Given the description of an element on the screen output the (x, y) to click on. 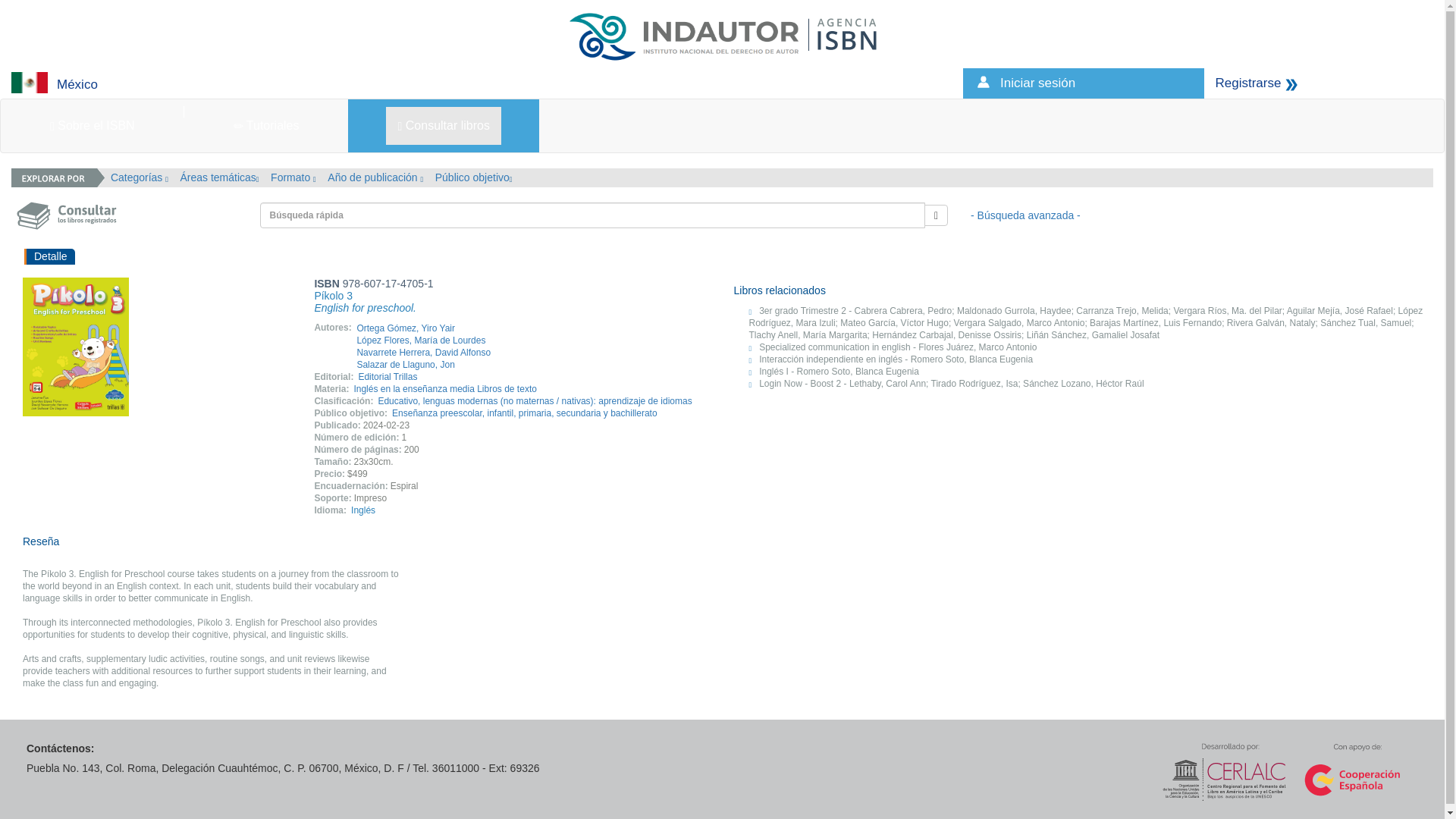
Consultar libros (442, 125)
Formato (292, 177)
Tutoriales (266, 125)
Sobre el ISBN (93, 125)
Registrarse (1247, 83)
